Given the description of an element on the screen output the (x, y) to click on. 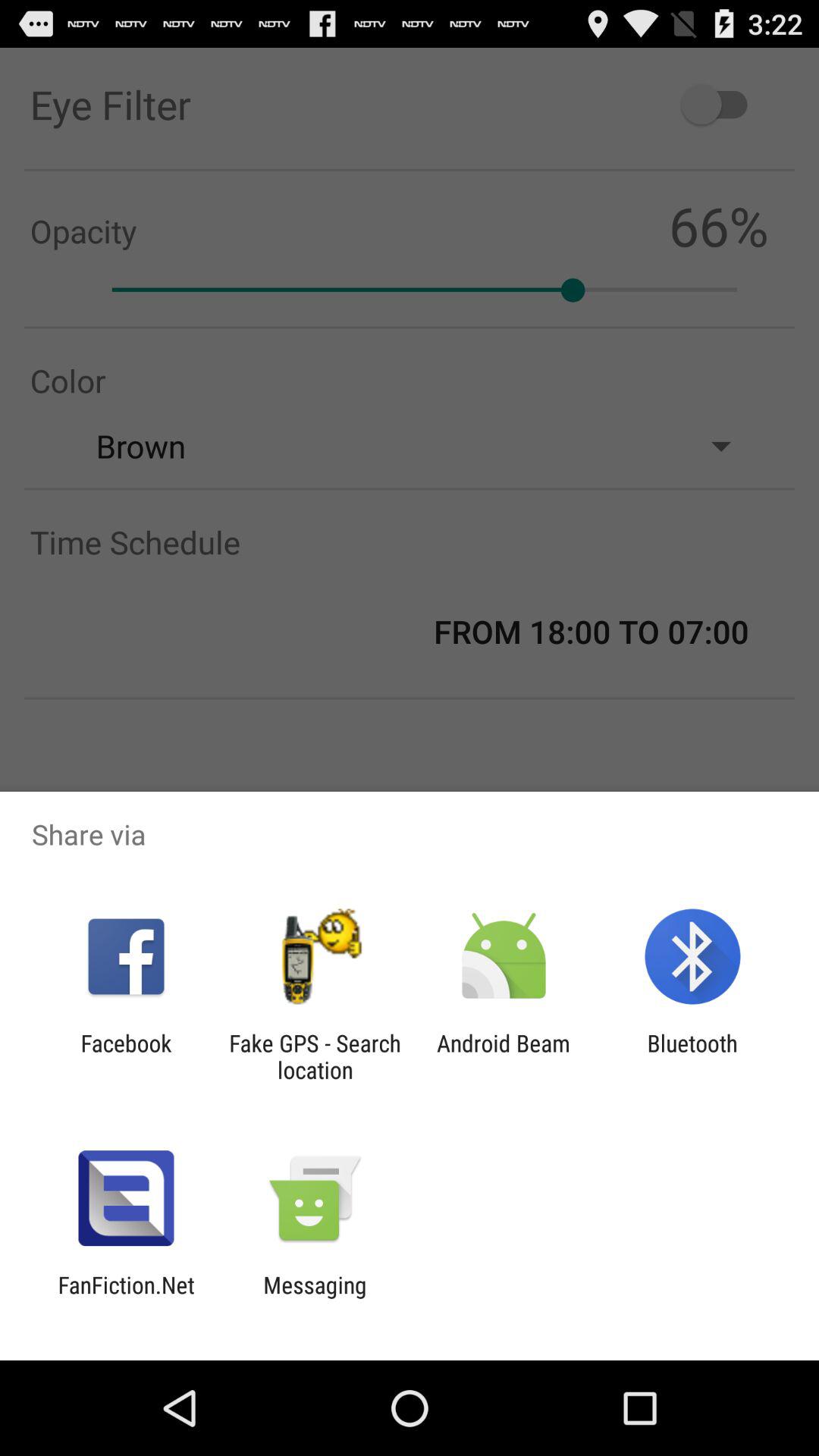
click icon next to the android beam app (314, 1056)
